Given the description of an element on the screen output the (x, y) to click on. 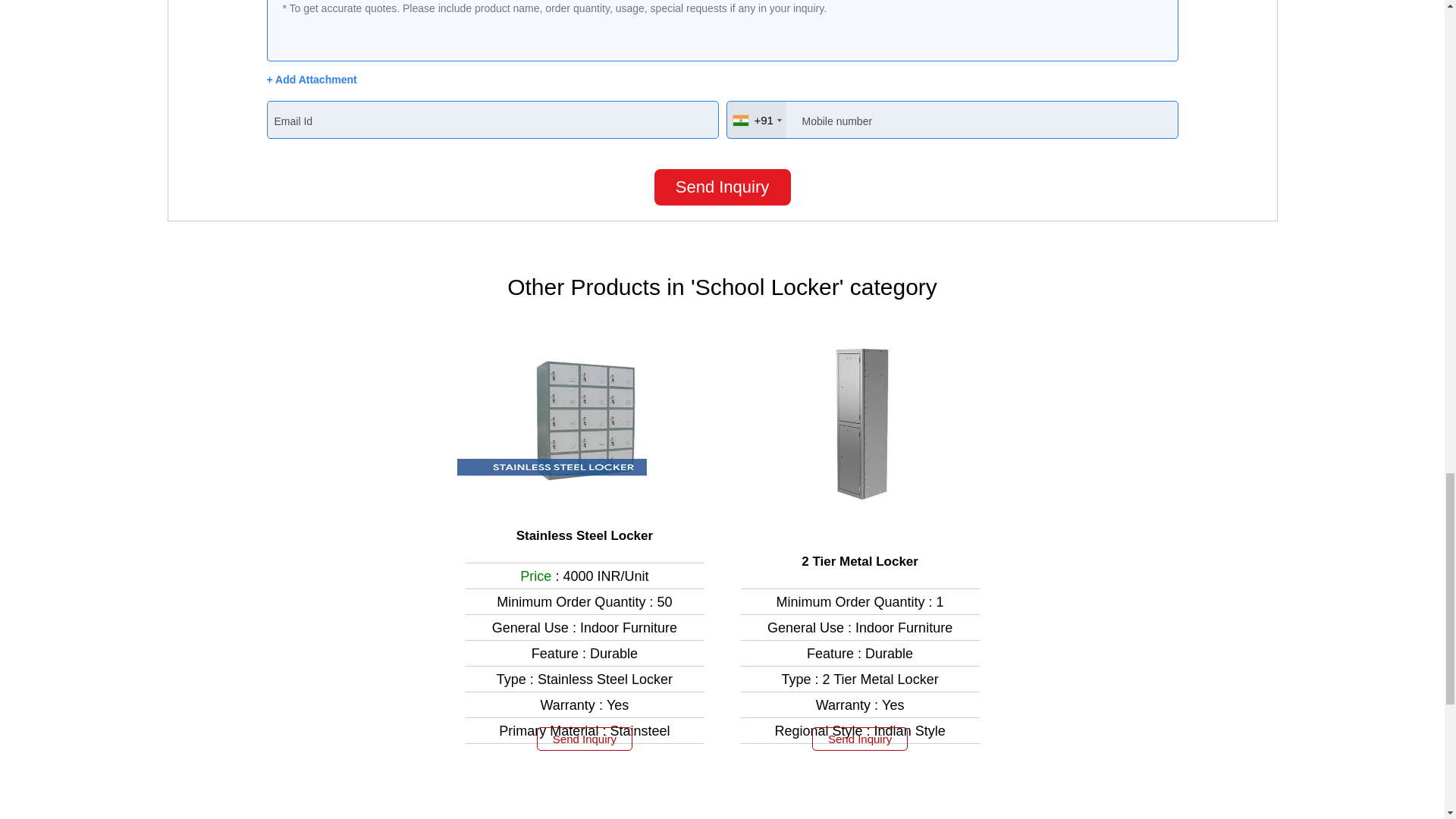
Stainless Steel Locker (584, 535)
Send Inquiry (721, 186)
